Given the description of an element on the screen output the (x, y) to click on. 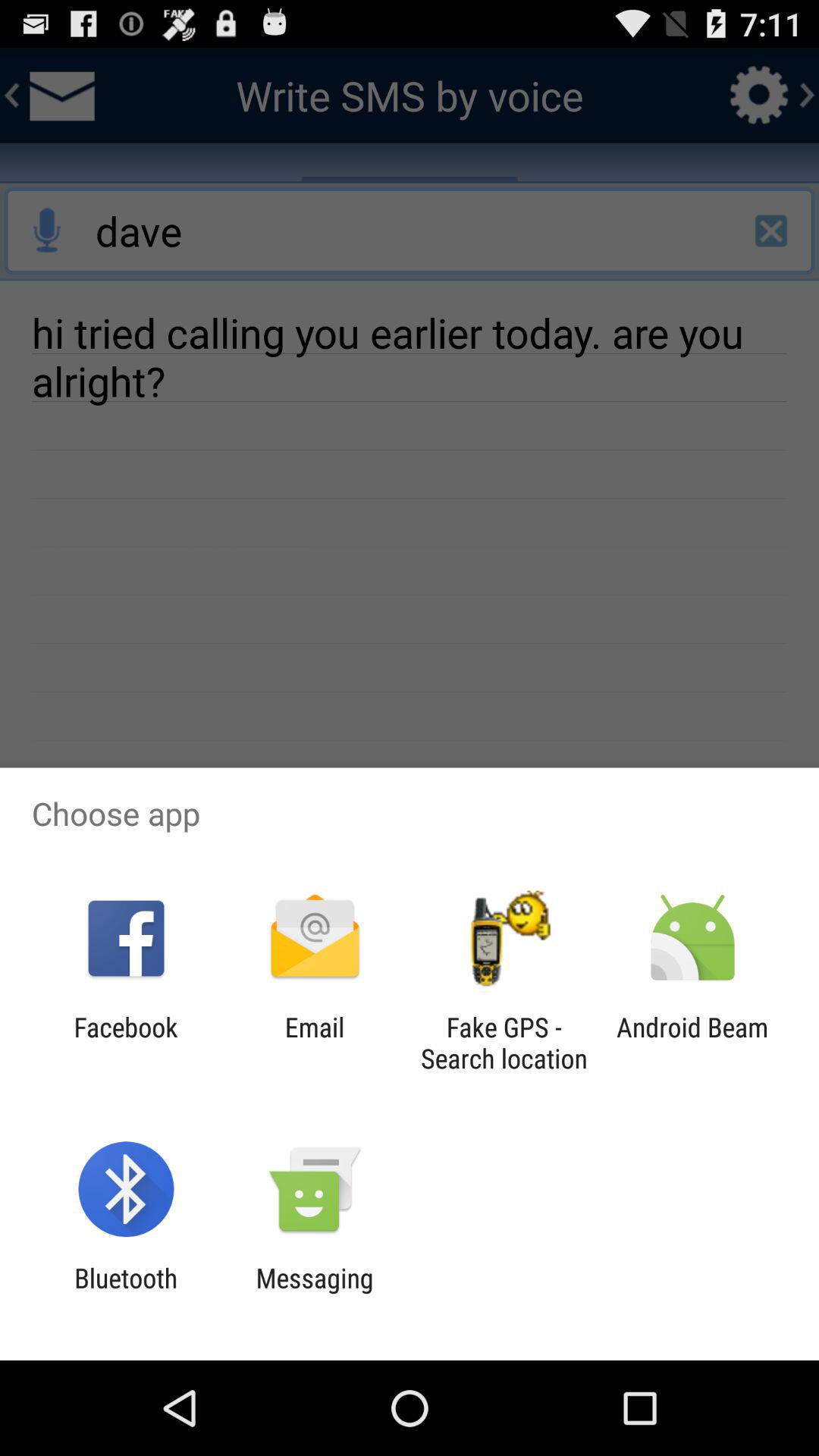
swipe until the bluetooth app (125, 1293)
